Given the description of an element on the screen output the (x, y) to click on. 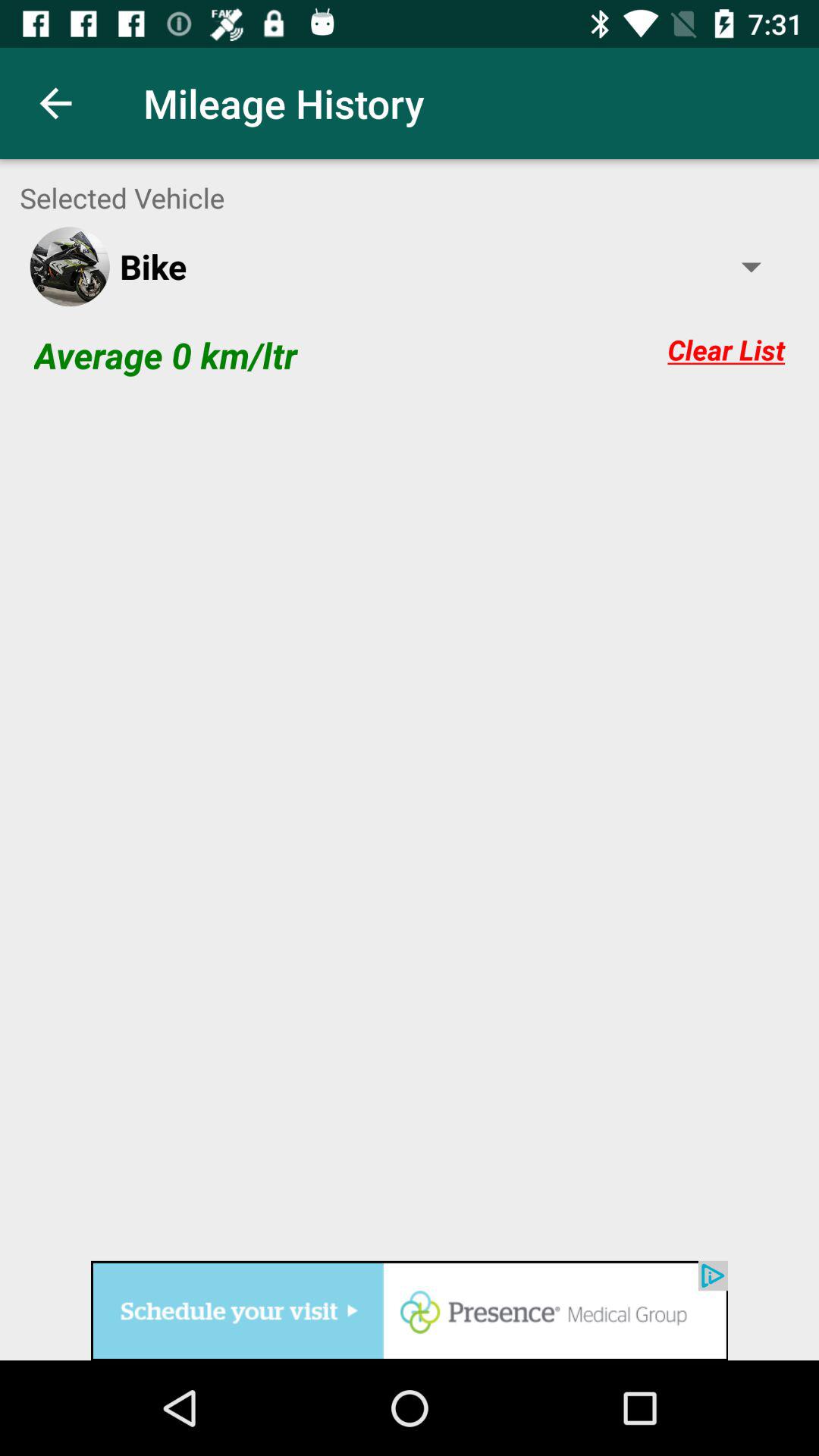
blank space (409, 826)
